Given the description of an element on the screen output the (x, y) to click on. 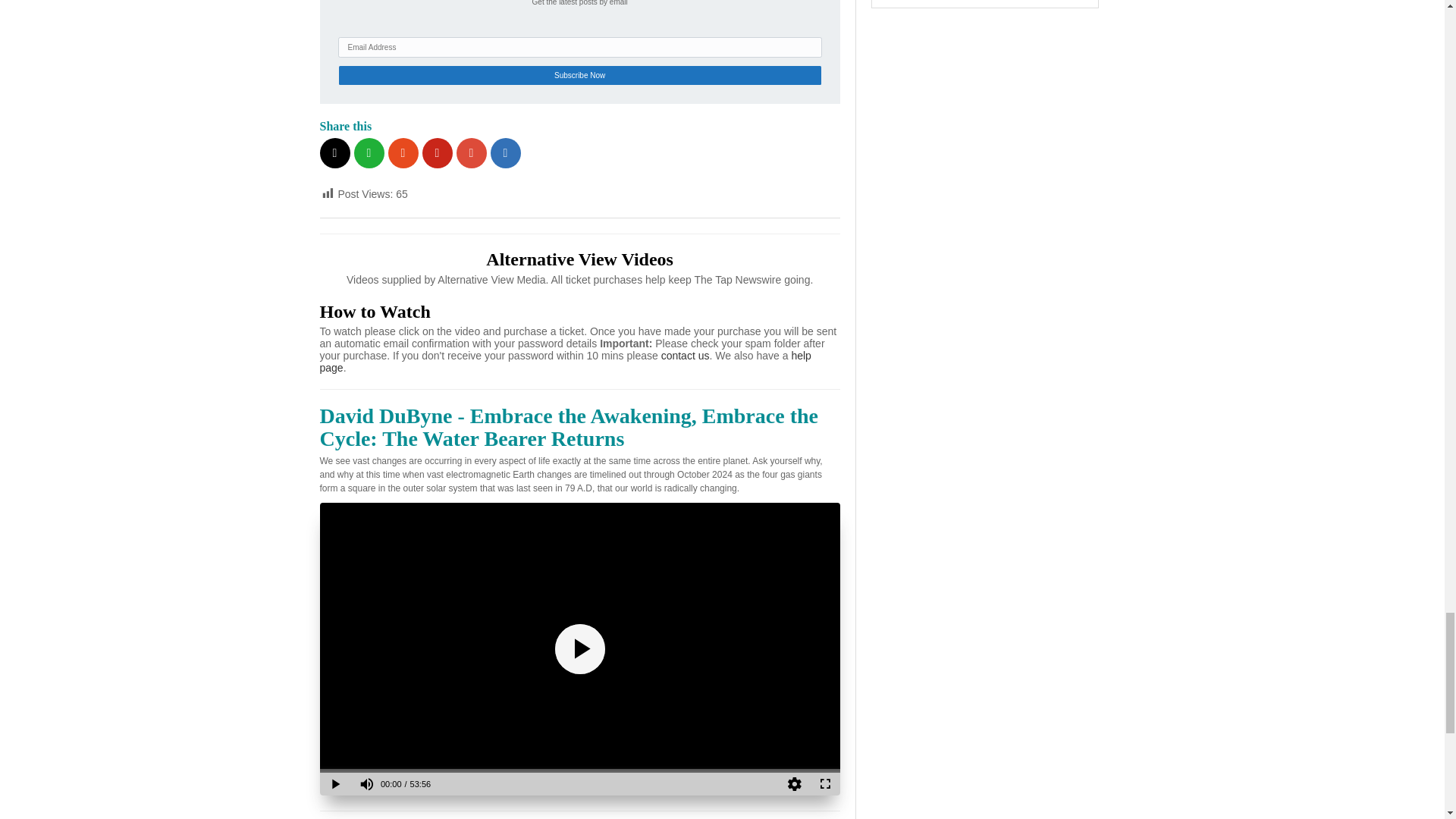
help page (565, 361)
Subscribe Now (579, 75)
Subscribe Now (579, 75)
contact us (685, 355)
5 (984, 4)
